Given the description of an element on the screen output the (x, y) to click on. 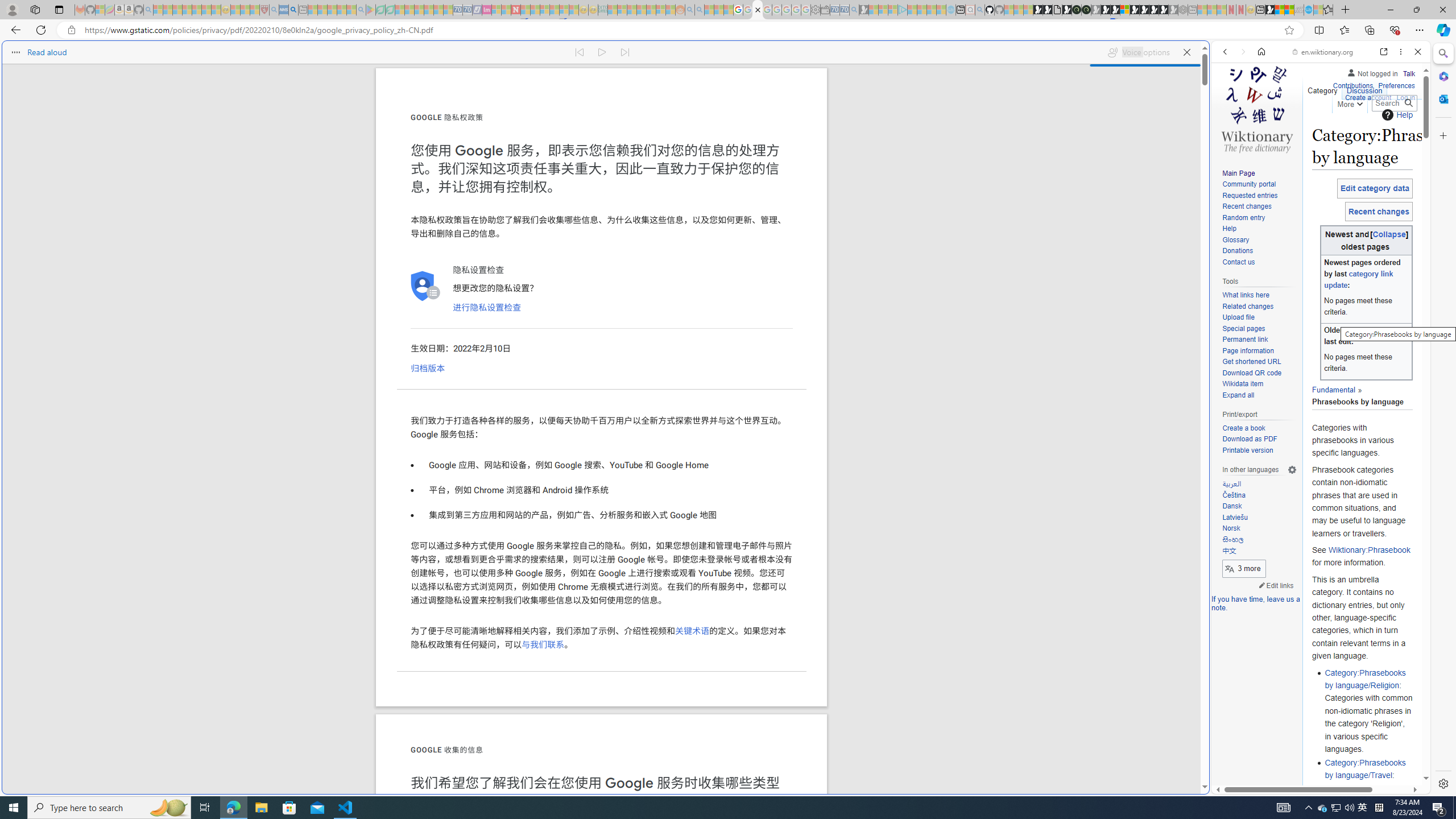
Expand all (1238, 394)
What links here (1259, 295)
Talk (1408, 73)
Donations (1237, 250)
Search or enter web address (922, 108)
Create a book (1259, 428)
Voice options (1138, 52)
